Given the description of an element on the screen output the (x, y) to click on. 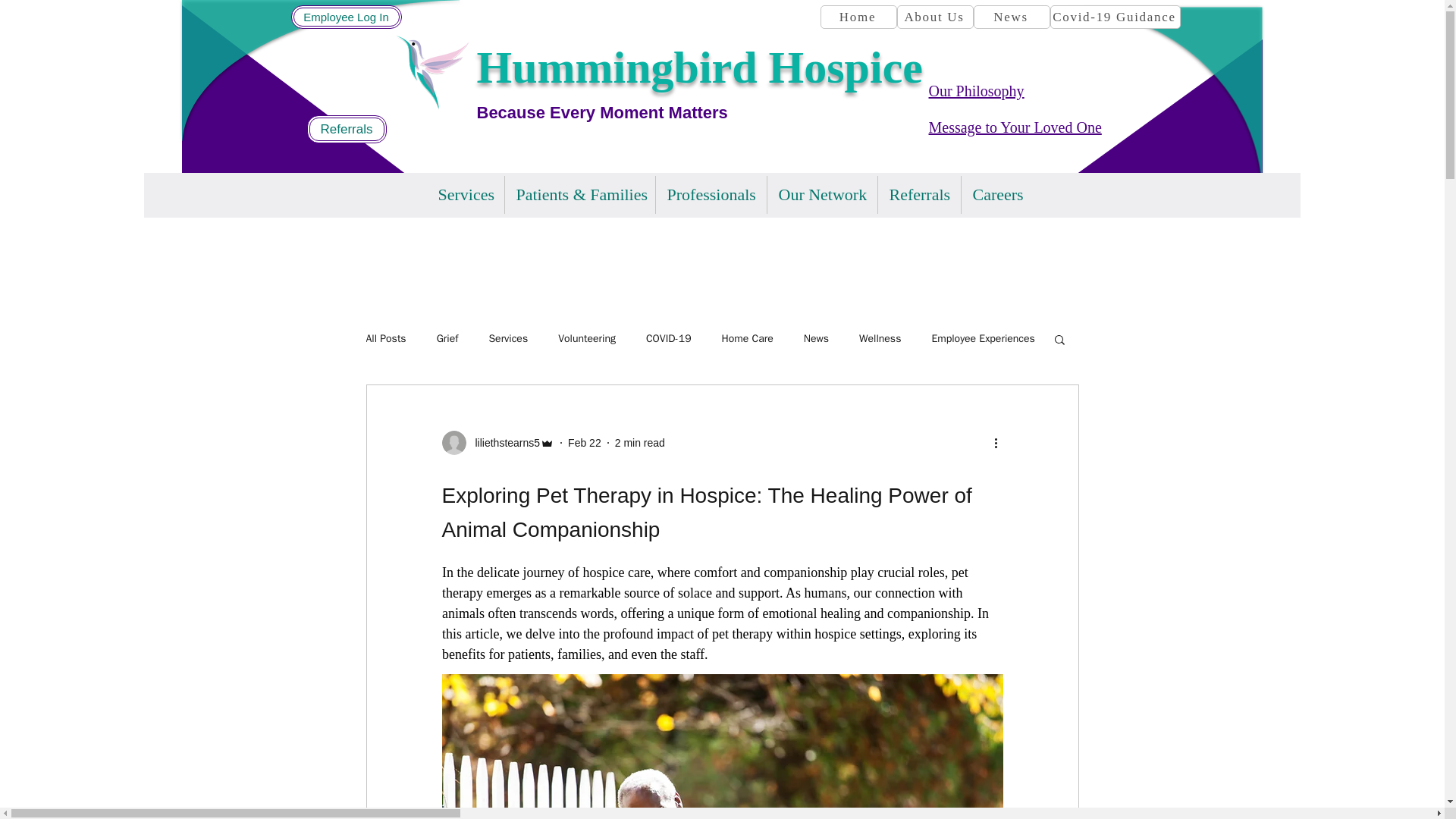
Services (464, 194)
About Us (934, 16)
Employee Log In (346, 16)
Our Network (822, 194)
liliethstearns5 (502, 442)
Covid-19 Guidance (1114, 16)
News (1011, 16)
2 min read (639, 442)
Professionals (710, 194)
Message to Your Loved One (1014, 126)
Our Philosophy (975, 90)
Feb 22 (584, 442)
Hummingbird Hospice (698, 67)
Home (858, 16)
